Given the description of an element on the screen output the (x, y) to click on. 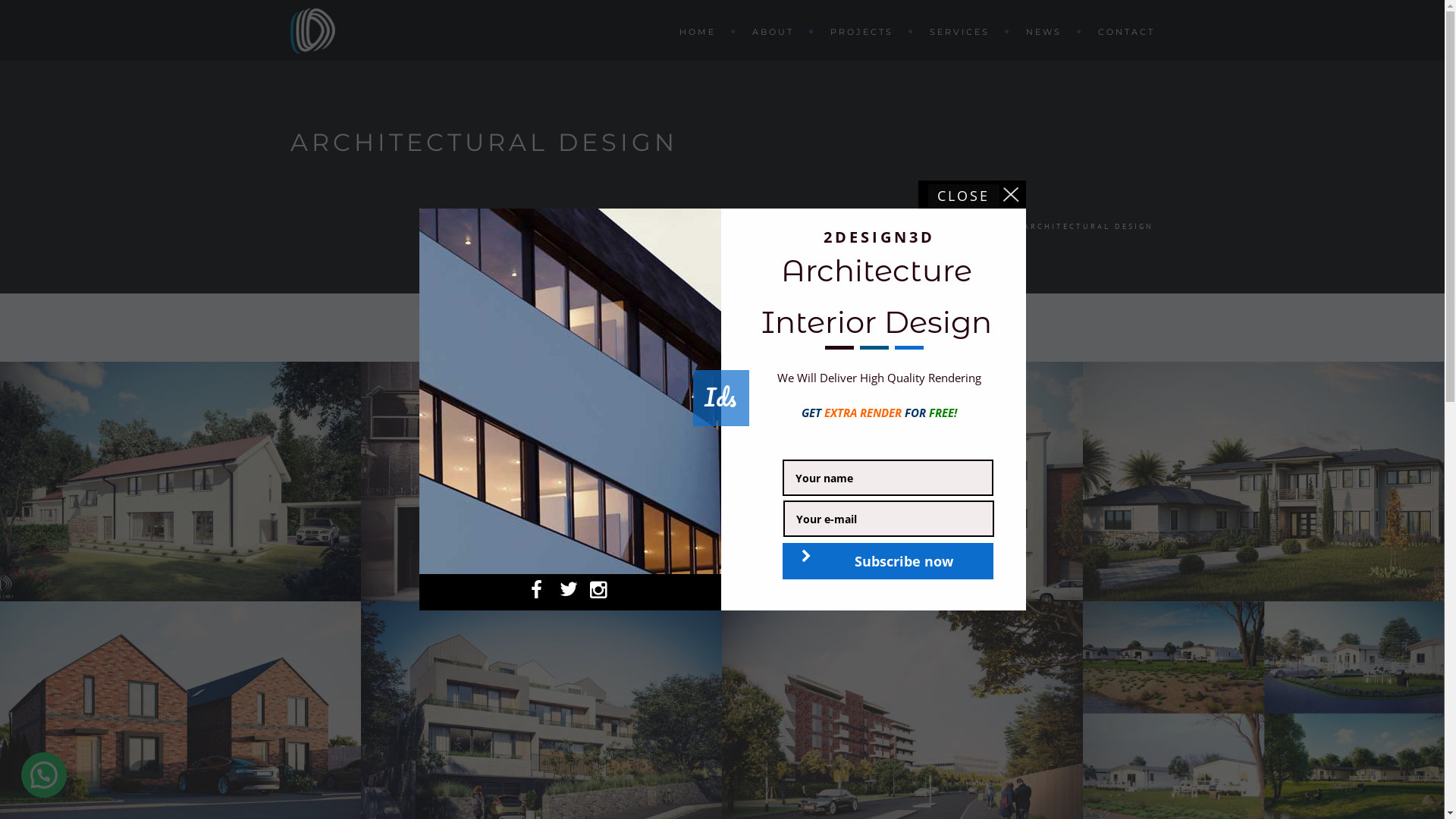
PROJECTS Element type: text (863, 31)
SERVICES Element type: text (962, 31)
Subscribe now Element type: text (887, 560)
468-01-Residential-Building Element type: hover (180, 481)
HOME Element type: text (700, 31)
984-Vew01 Element type: hover (901, 481)
CONTACT Element type: text (1118, 31)
ABOUT Element type: text (776, 31)
HOME Element type: text (991, 226)
Premium 3D House Design Service Element type: hover (1262, 481)
NEWS Element type: text (1046, 31)
836-CrolCo-London-Bridge Element type: hover (540, 481)
